Given the description of an element on the screen output the (x, y) to click on. 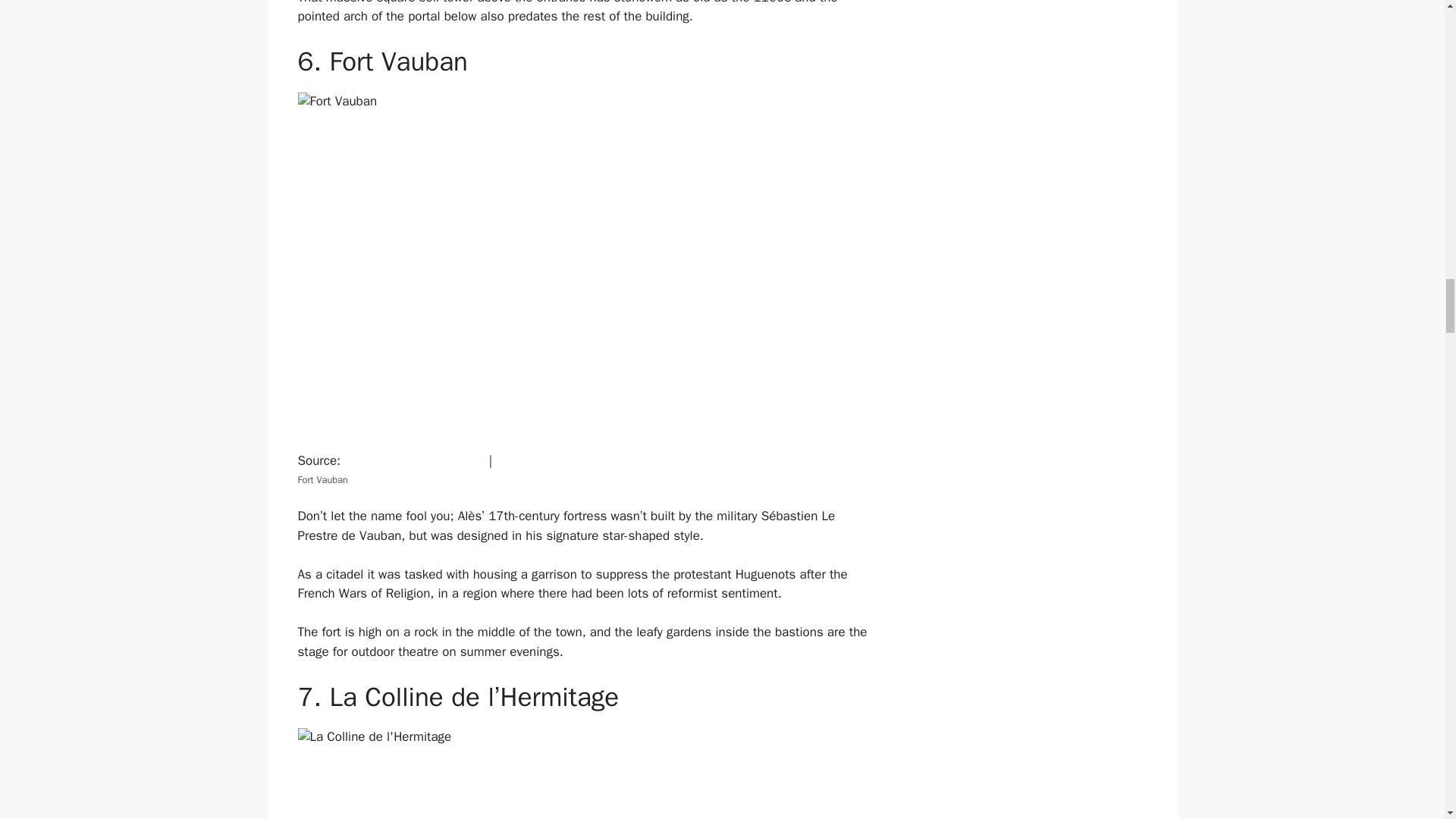
CC BY-SA 4.0 (534, 460)
